Given the description of an element on the screen output the (x, y) to click on. 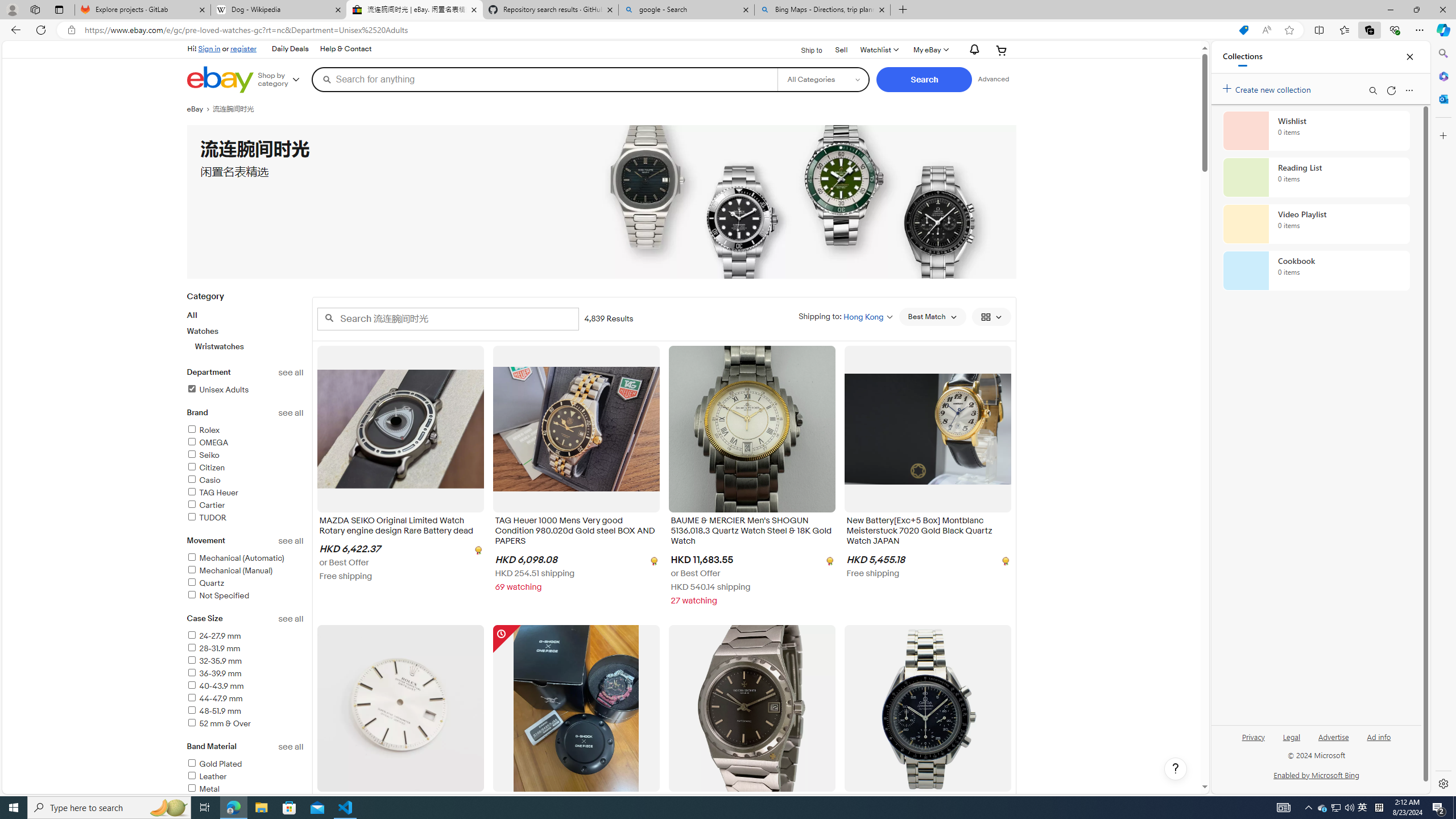
Brandsee allRolexOMEGASeikoCitizenCasioTAG HeuerCartierTUDOR (245, 471)
28-31.9 mm (245, 648)
Leather (245, 776)
register (243, 48)
48-51.9 mm (245, 711)
All (192, 315)
TAG Heuer (212, 492)
Cartier (245, 505)
Seiko (202, 455)
eBay Home (219, 79)
